Given the description of an element on the screen output the (x, y) to click on. 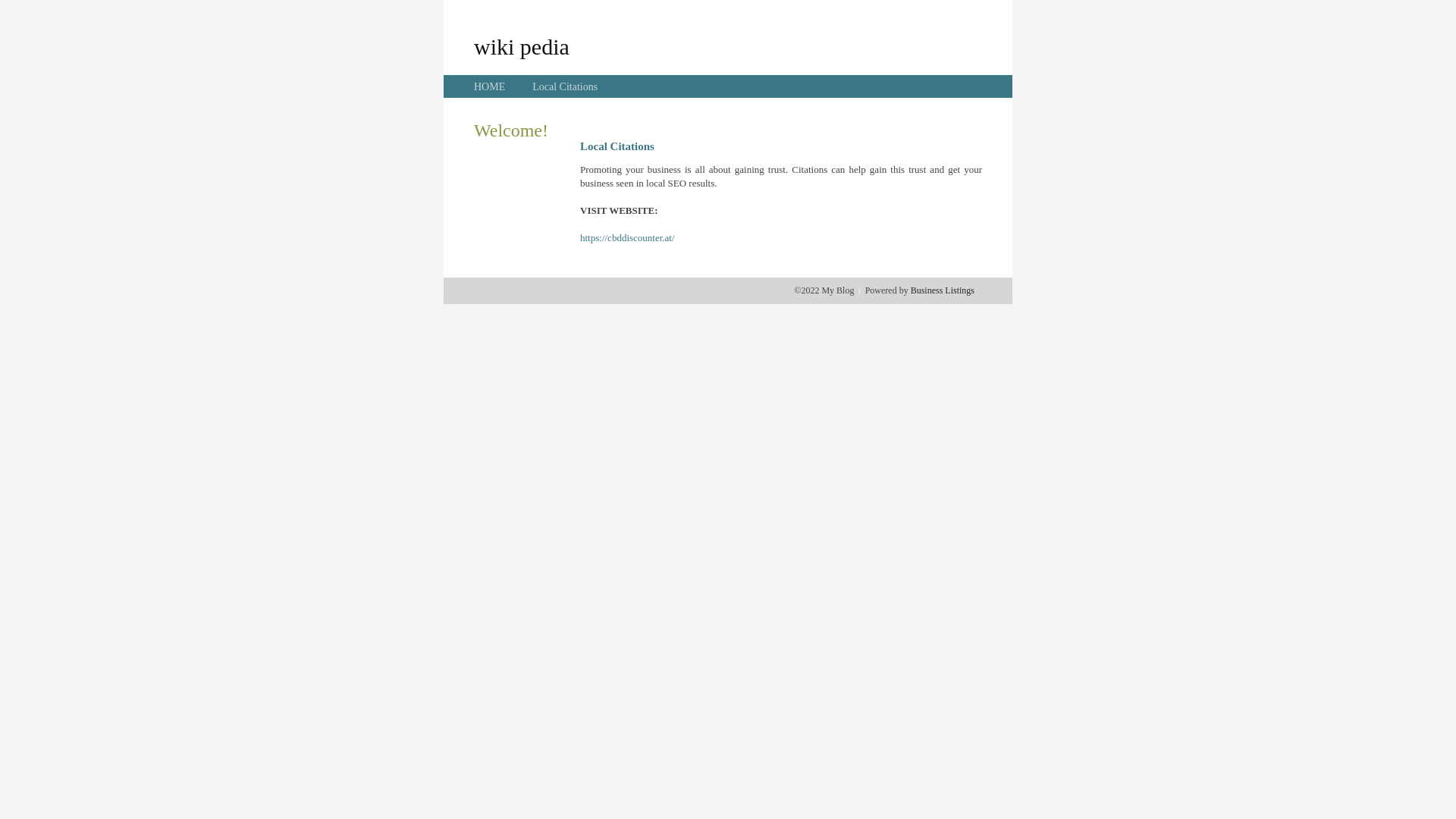
Business Listings Element type: text (942, 290)
https://cbddiscounter.at/ Element type: text (627, 237)
Local Citations Element type: text (564, 86)
HOME Element type: text (489, 86)
wiki pedia Element type: text (521, 46)
